Given the description of an element on the screen output the (x, y) to click on. 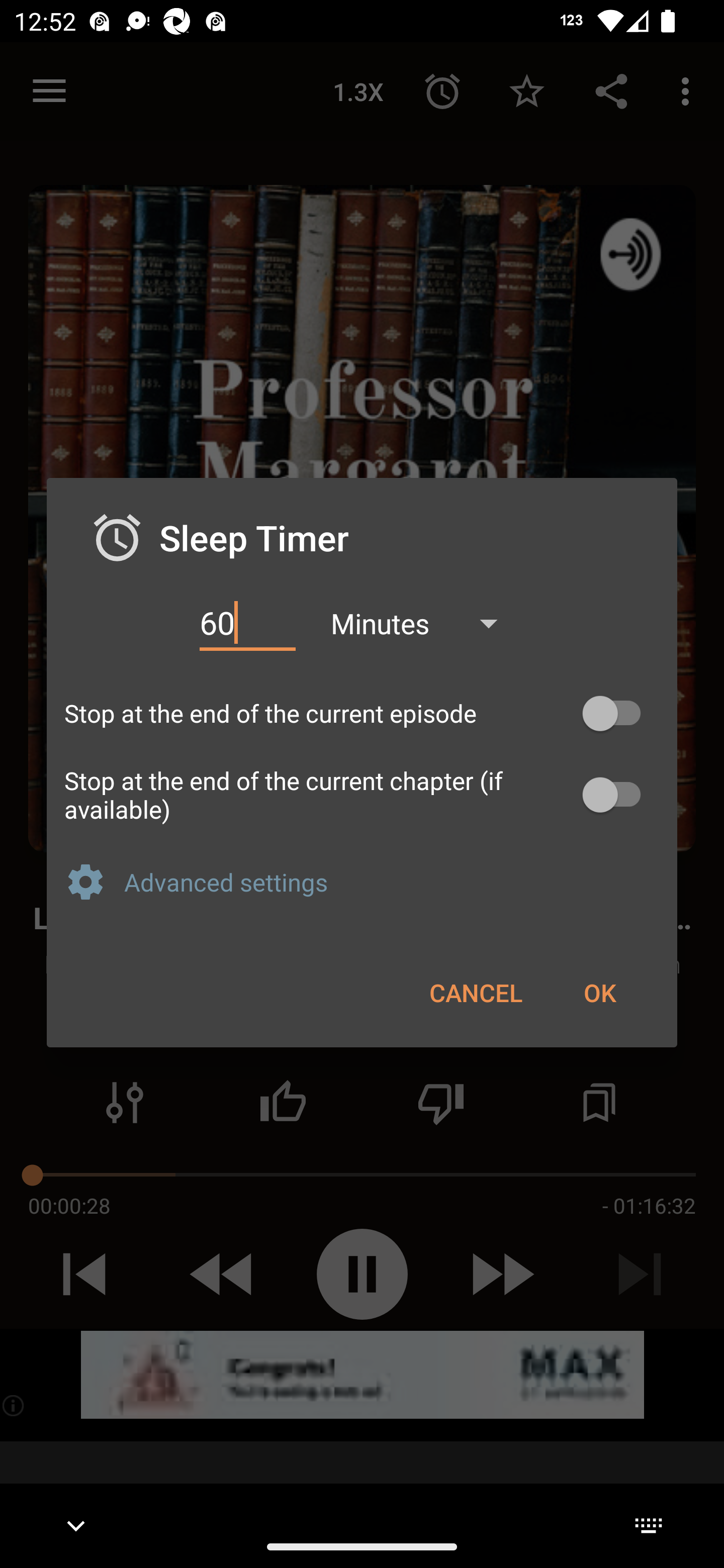
60 (247, 623)
Minutes (423, 623)
Stop at the end of the current episode (361, 712)
Advanced settings (391, 881)
CANCEL (475, 992)
OK (599, 992)
